Given the description of an element on the screen output the (x, y) to click on. 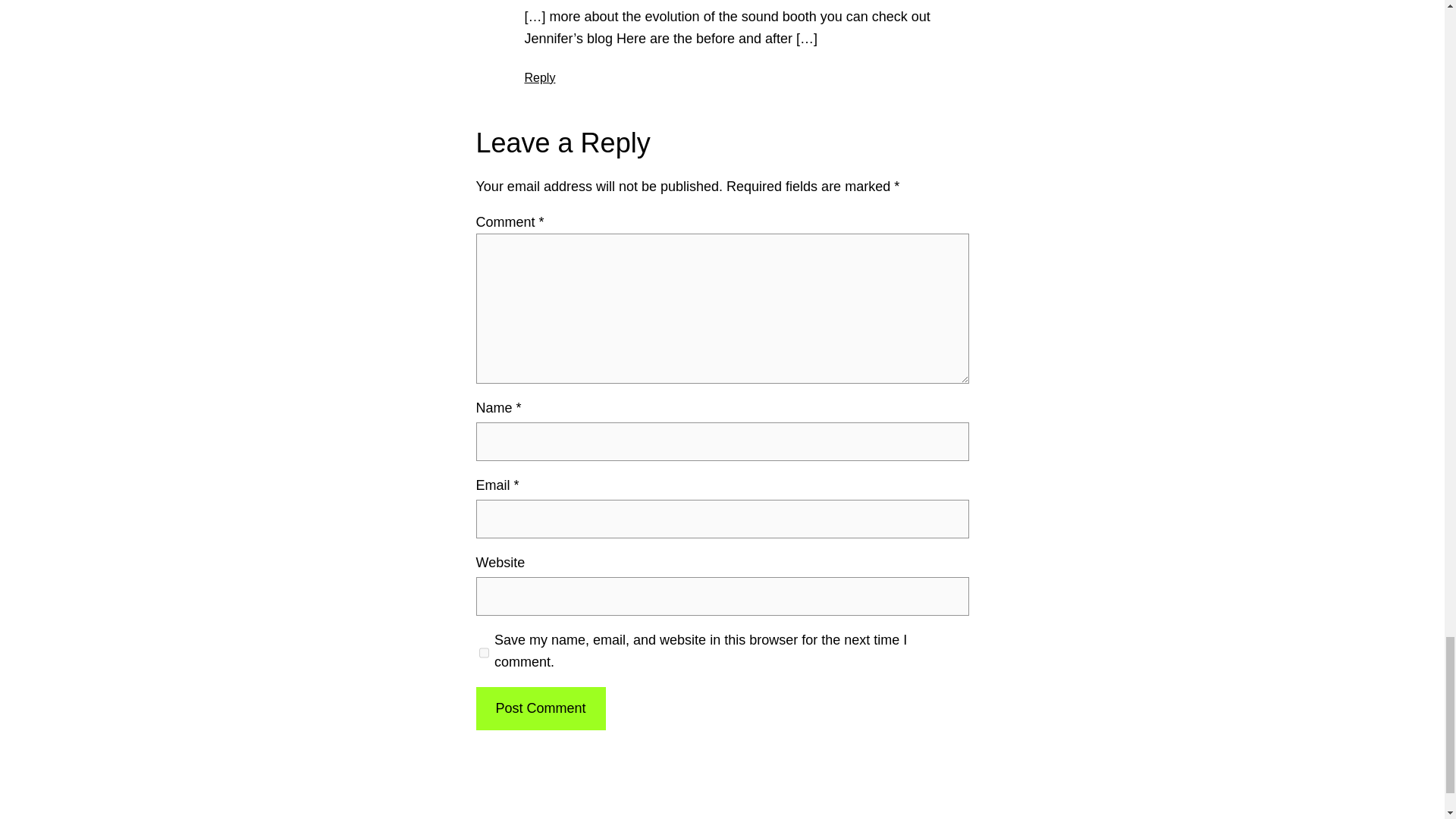
Post Comment (540, 708)
Reply (540, 77)
Post Comment (540, 708)
